Given the description of an element on the screen output the (x, y) to click on. 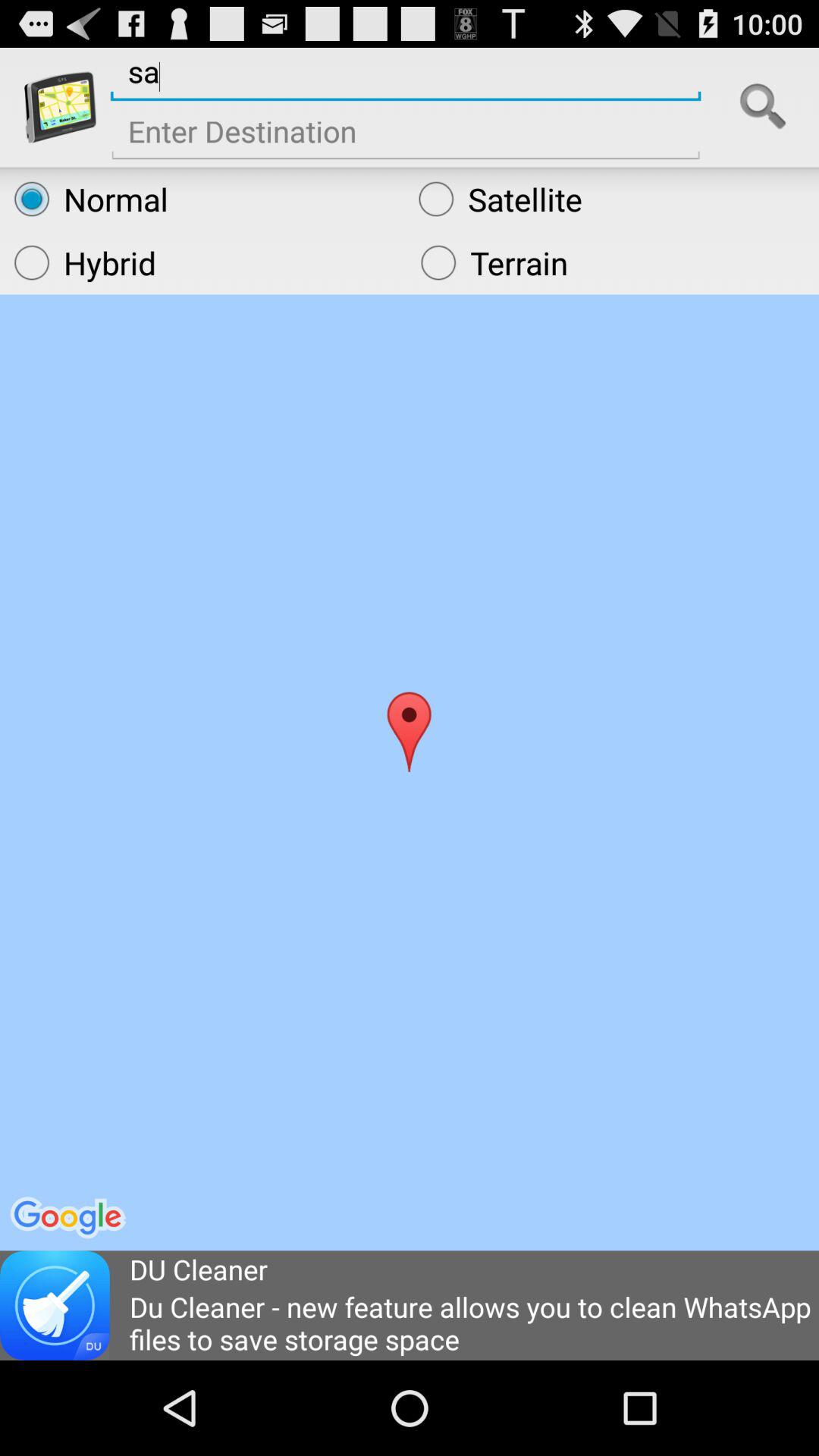
search (763, 107)
